Given the description of an element on the screen output the (x, y) to click on. 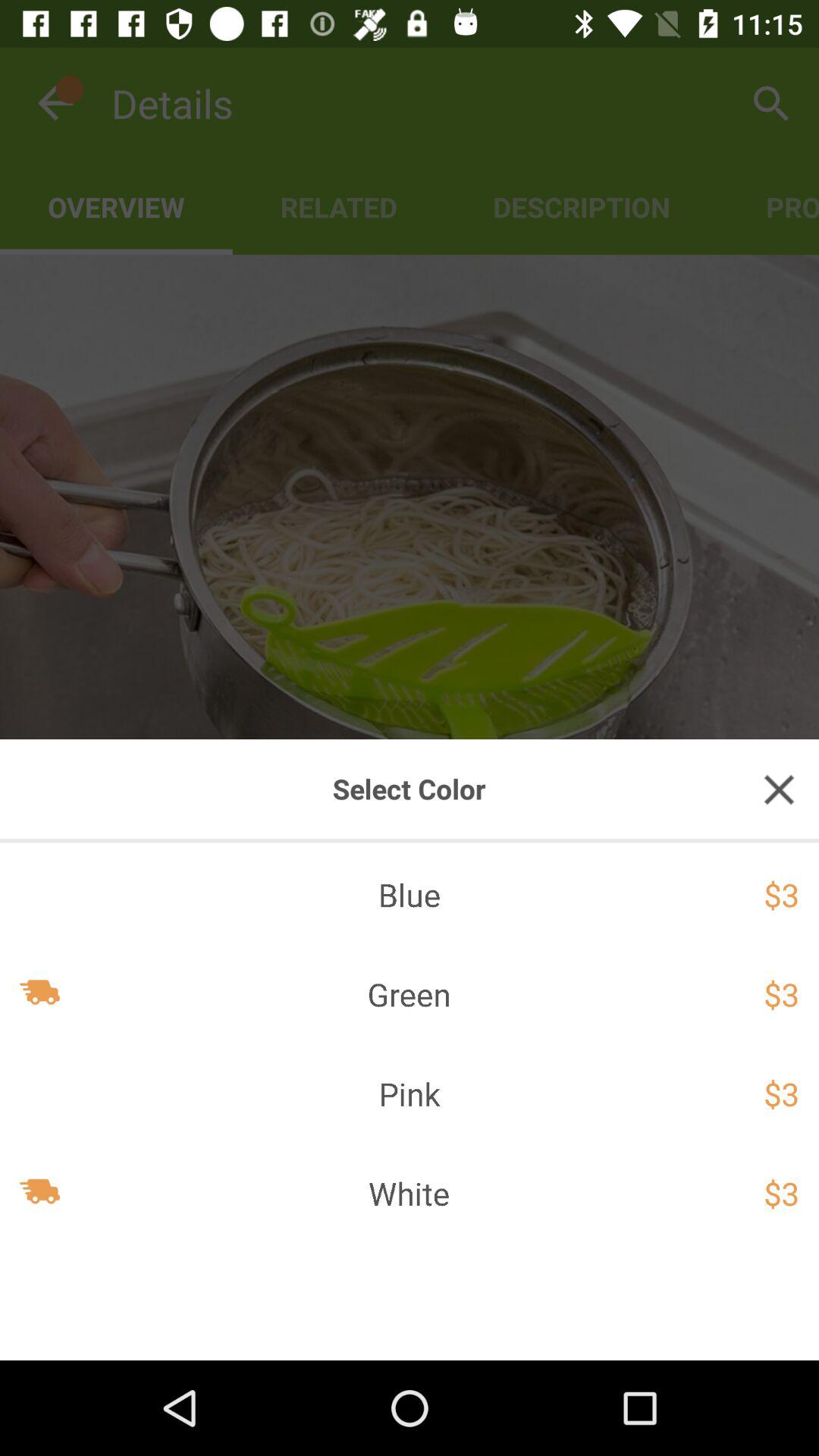
exit (779, 788)
